Given the description of an element on the screen output the (x, y) to click on. 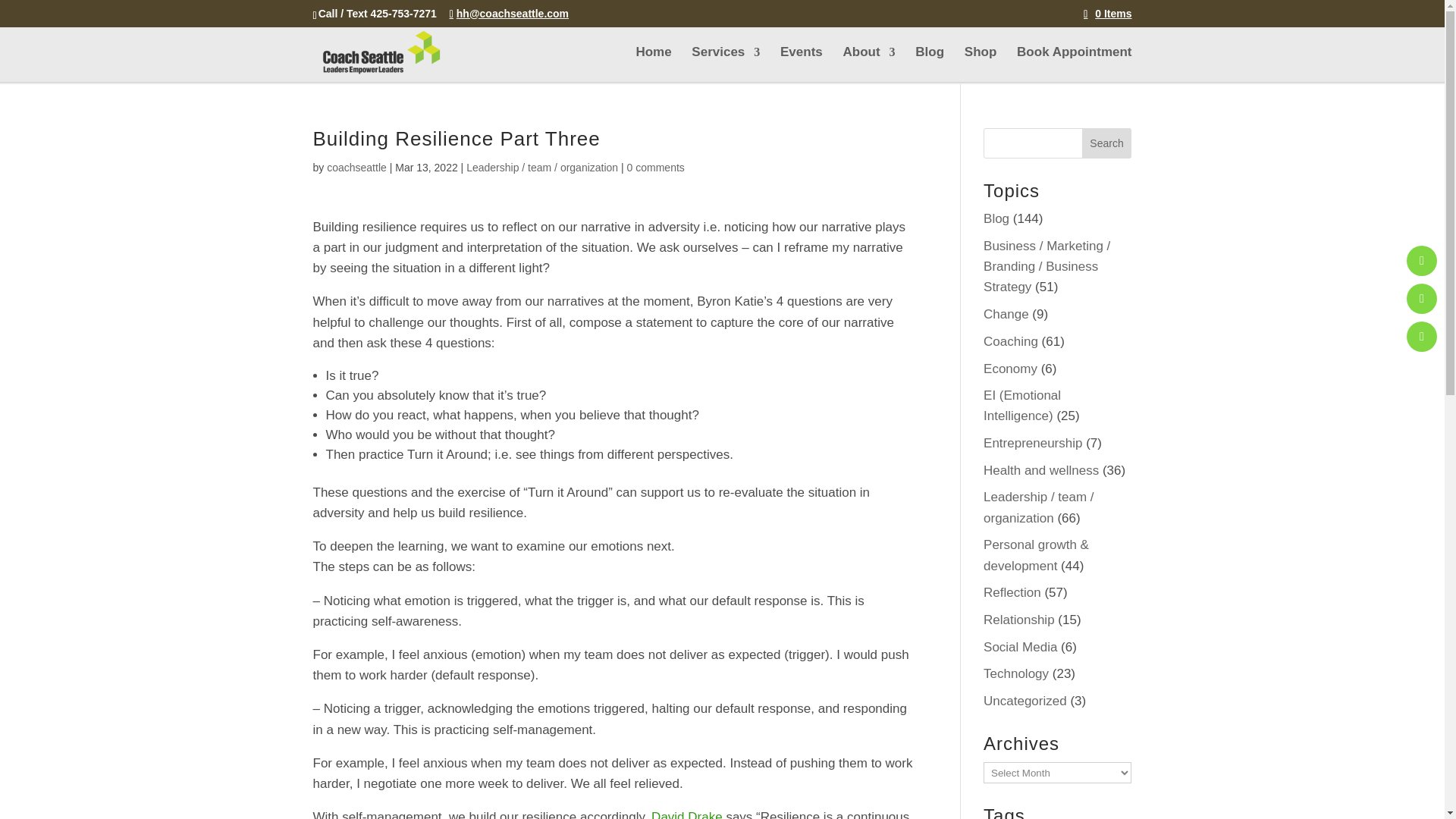
Book Appointment (1073, 63)
Technology (1016, 673)
Health and wellness (1041, 470)
Search (1106, 142)
Services (725, 63)
0 Items (1107, 13)
About (869, 63)
0 comments (655, 167)
Economy (1010, 368)
Search (1106, 142)
Change (1006, 314)
Shop (980, 63)
Social Media (1020, 646)
David Drake (686, 814)
Reflection (1012, 592)
